Given the description of an element on the screen output the (x, y) to click on. 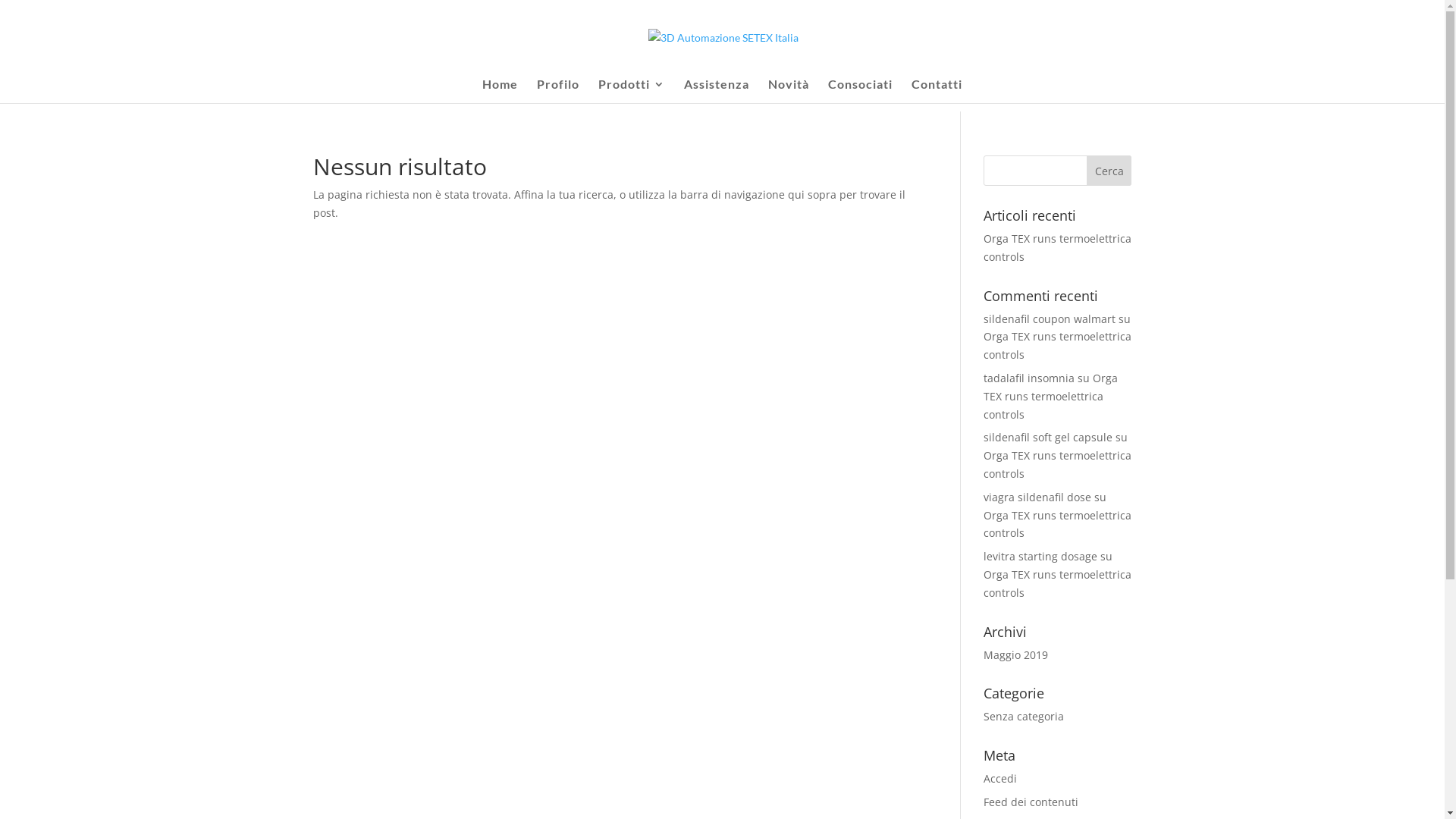
Profilo Element type: text (557, 90)
Orga TEX runs termoelettrica controls Element type: text (1057, 247)
sildenafil soft gel capsule Element type: text (1047, 436)
Orga TEX runs termoelettrica controls Element type: text (1057, 464)
viagra sildenafil dose Element type: text (1037, 496)
Accedi Element type: text (999, 778)
levitra starting dosage Element type: text (1040, 556)
Consociati Element type: text (860, 90)
Contatti Element type: text (936, 90)
Maggio 2019 Element type: text (1015, 654)
Orga TEX runs termoelettrica controls Element type: text (1050, 395)
tadalafil insomnia Element type: text (1028, 377)
Orga TEX runs termoelettrica controls Element type: text (1057, 524)
sildenafil coupon walmart Element type: text (1049, 318)
Orga TEX runs termoelettrica controls Element type: text (1057, 583)
Assistenza Element type: text (716, 90)
Cerca Element type: text (1109, 170)
Prodotti Element type: text (631, 90)
Senza categoria Element type: text (1023, 716)
Feed dei contenuti Element type: text (1030, 801)
Home Element type: text (499, 90)
Orga TEX runs termoelettrica controls Element type: text (1057, 345)
